Given the description of an element on the screen output the (x, y) to click on. 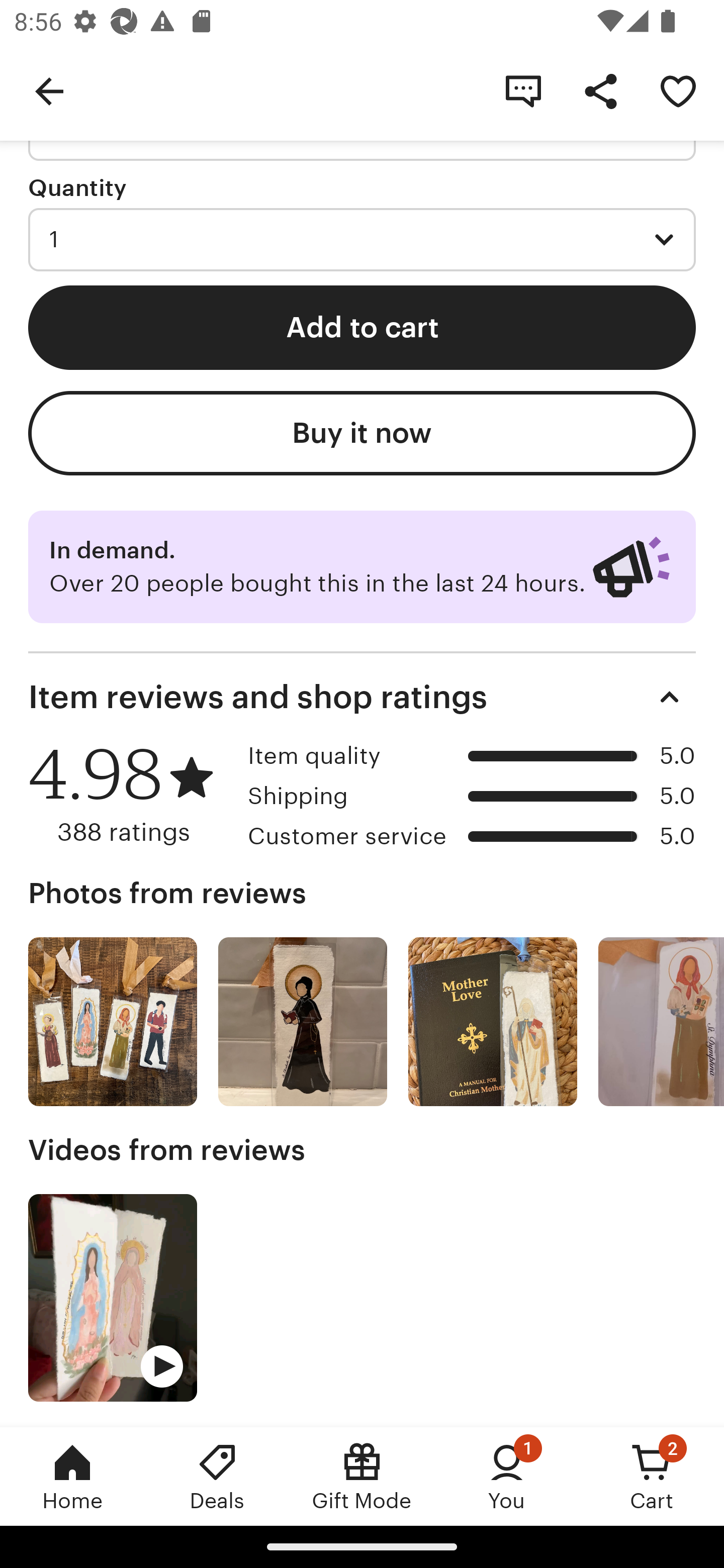
Navigate up (49, 90)
Contact shop (523, 90)
Share (600, 90)
Remove Watercolor Bookmarks from your favorites (678, 90)
Quantity (77, 187)
1 (361, 239)
Add to cart (361, 327)
Buy it now (361, 432)
Item reviews and shop ratings (362, 696)
4.98 388 ratings (130, 794)
Photo from review (112, 1021)
Photo from review (302, 1021)
Photo from review (492, 1021)
Photo from review (661, 1021)
Deals (216, 1475)
Gift Mode (361, 1475)
You, 1 new notification You (506, 1475)
Cart, 2 new notifications Cart (651, 1475)
